Given the description of an element on the screen output the (x, y) to click on. 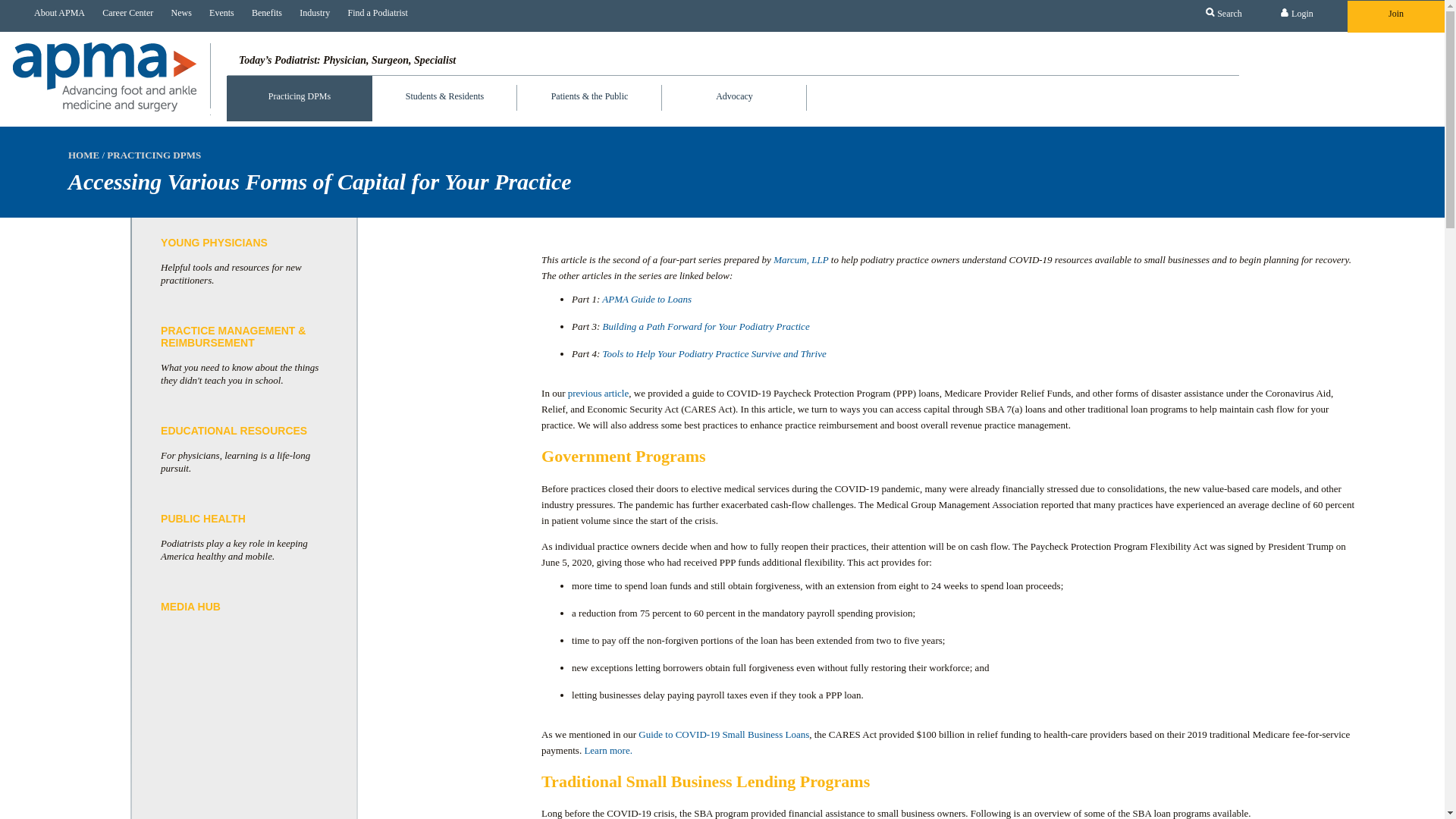
Advocacy (734, 87)
Career Center (123, 13)
Industry (310, 13)
Search (1224, 13)
Login (1296, 13)
About APMA (55, 13)
News (176, 13)
Find a Podiatrist (373, 13)
Benefits (262, 13)
Events (218, 13)
Practicing DPMs (299, 98)
